Given the description of an element on the screen output the (x, y) to click on. 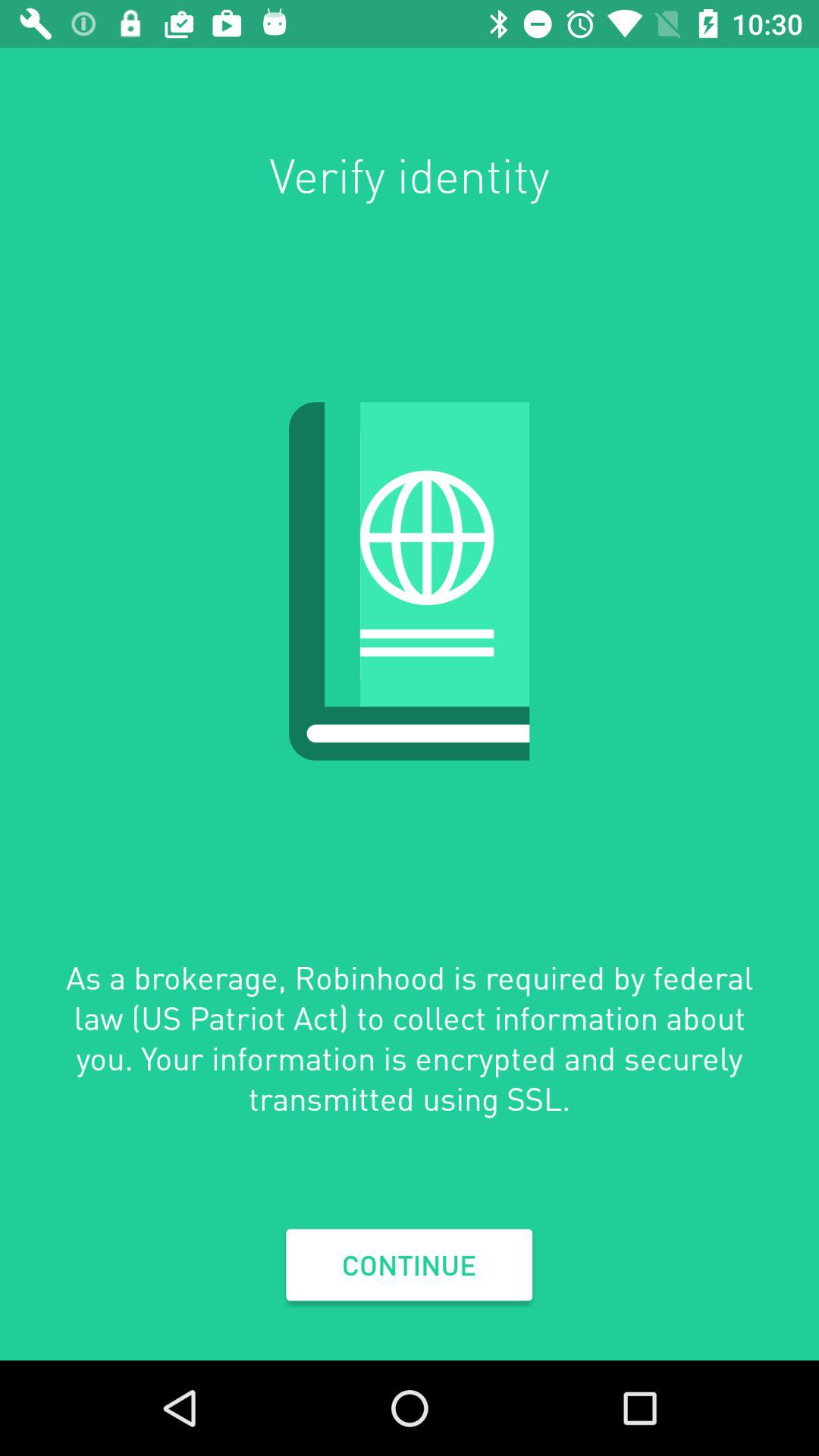
open the item below as a brokerage icon (409, 1264)
